Given the description of an element on the screen output the (x, y) to click on. 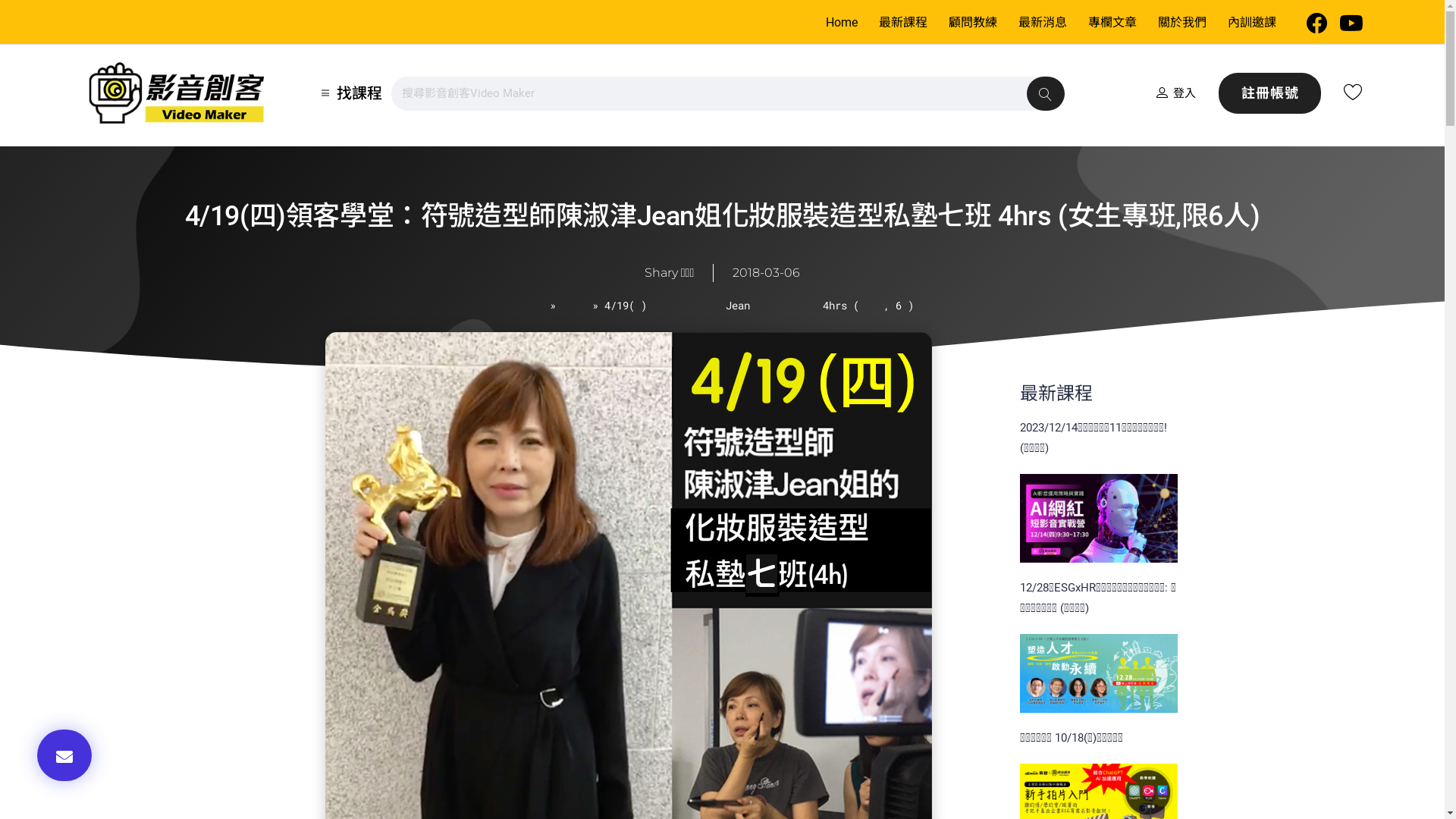
Home Element type: text (840, 22)
2018-03-06 Element type: text (766, 272)
